Given the description of an element on the screen output the (x, y) to click on. 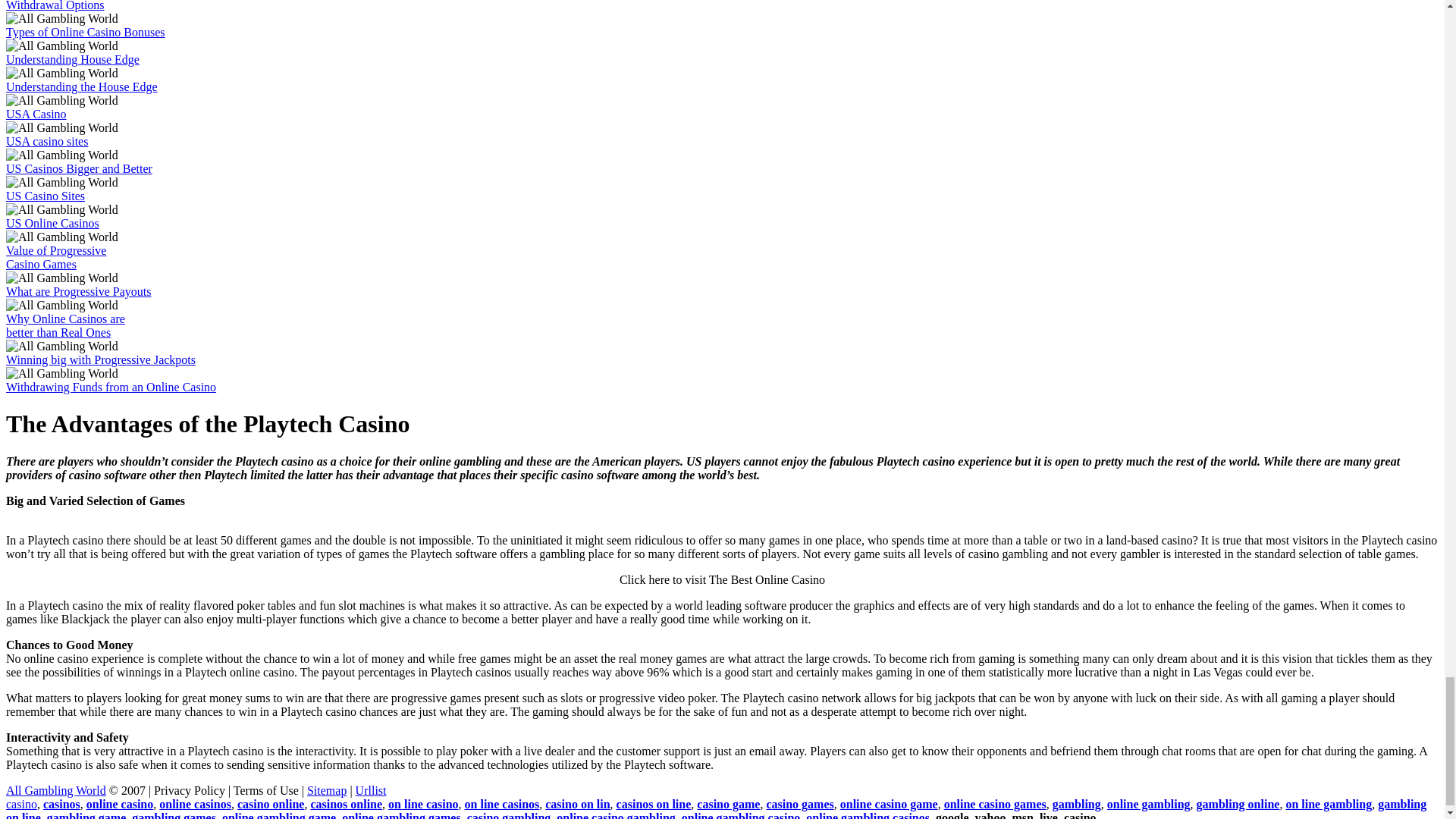
online casino games (994, 803)
on line casino (423, 803)
casino (21, 803)
casino on lin (577, 803)
casino games (798, 803)
casinos online (345, 803)
online casinos (194, 803)
on line casinos (502, 803)
gambling online (1237, 803)
casino game (728, 803)
Online Casinos Games Online Gambling (55, 789)
casino (1076, 803)
casinos on line (653, 803)
online casino (118, 803)
casino online (270, 803)
